Given the description of an element on the screen output the (x, y) to click on. 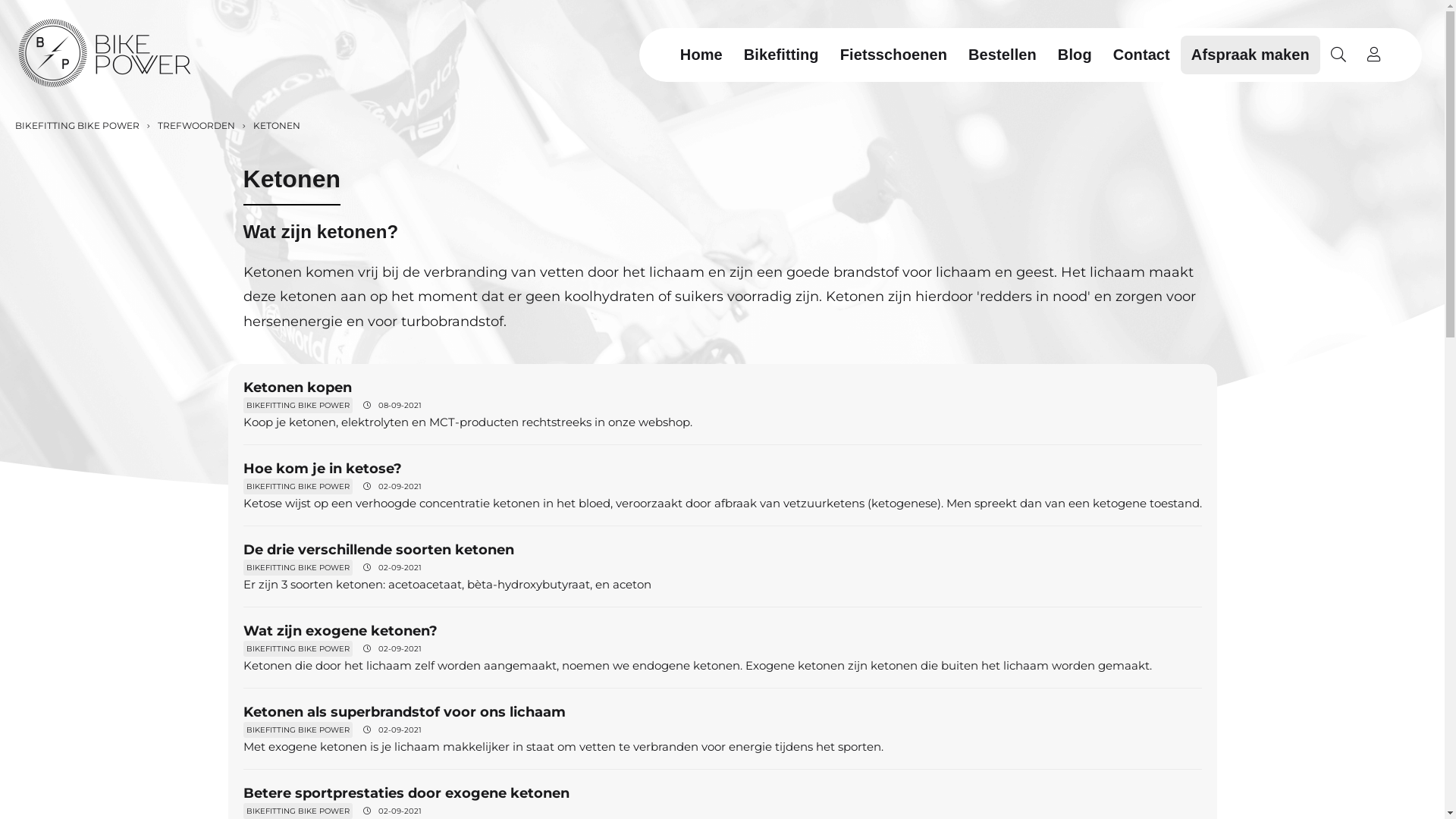
Blog Element type: text (1074, 53)
Home Element type: text (701, 53)
Bikefitting Element type: text (781, 53)
Ketonen kopen Element type: text (296, 387)
De drie verschillende soorten ketonen Element type: text (377, 549)
TREFWOORDEN Element type: text (194, 125)
Fietsschoenen Element type: text (893, 53)
Bestellen Element type: text (1002, 53)
Hoe kom je in ketose? Element type: text (321, 468)
Bikefitting Bike Power Element type: hover (104, 53)
Bikefitting Bike Power Element type: hover (104, 54)
Betere sportprestaties door exogene ketonen Element type: text (405, 792)
Afspraak maken Element type: text (1250, 53)
KETONEN Element type: text (274, 125)
BIKEFITTING BIKE POWER Element type: text (77, 125)
Ketonen als superbrandstof voor ons lichaam Element type: text (403, 711)
Contact Element type: text (1141, 53)
Wat zijn exogene ketonen? Element type: text (339, 630)
